Given the description of an element on the screen output the (x, y) to click on. 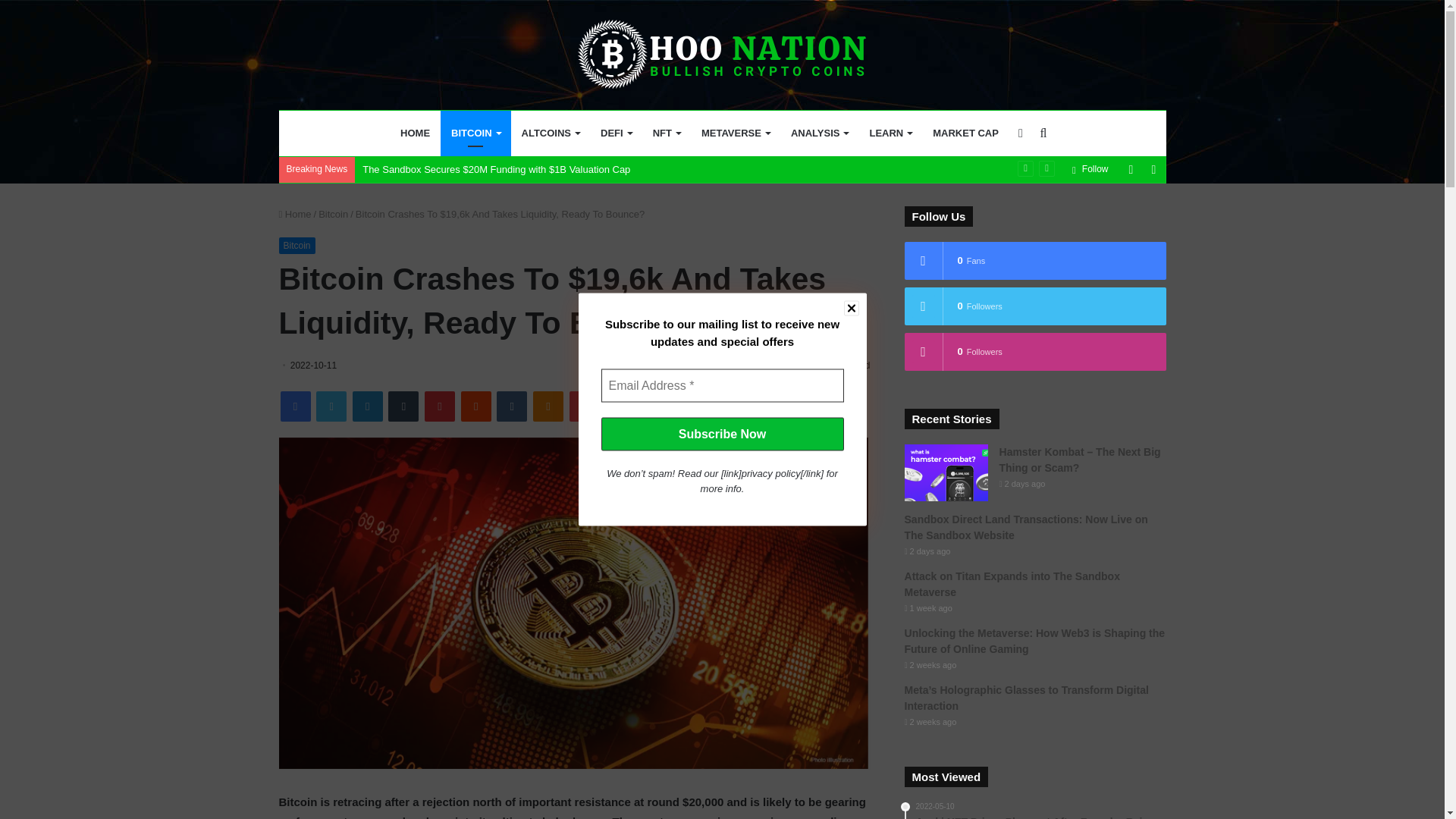
Reddit (476, 406)
ALTCOINS (550, 133)
ANALYSIS (819, 133)
Pocket (583, 406)
Reddit (476, 406)
NFT (666, 133)
Bitcoin (297, 245)
Home (295, 214)
LinkedIn (367, 406)
LinkedIn (367, 406)
VKontakte (511, 406)
Pinterest (439, 406)
Pinterest (439, 406)
Bitcoin (332, 214)
Facebook (296, 406)
